Given the description of an element on the screen output the (x, y) to click on. 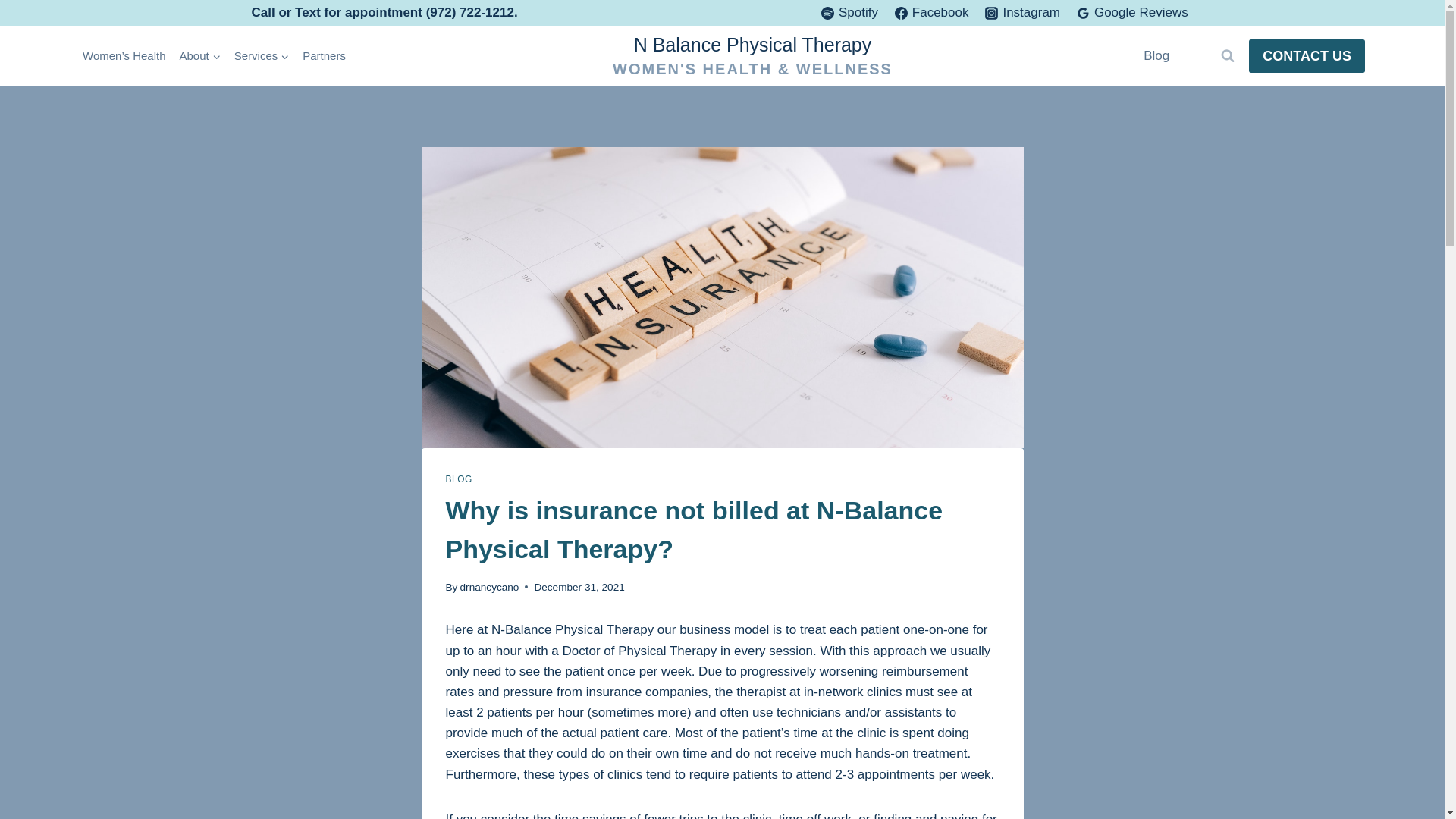
Instagram (1022, 12)
Spotify (849, 12)
Services (262, 56)
Google Reviews (1131, 12)
Partners (323, 56)
Facebook (931, 12)
About (200, 56)
CONTACT US (1307, 55)
Blog (1156, 55)
